Given the description of an element on the screen output the (x, y) to click on. 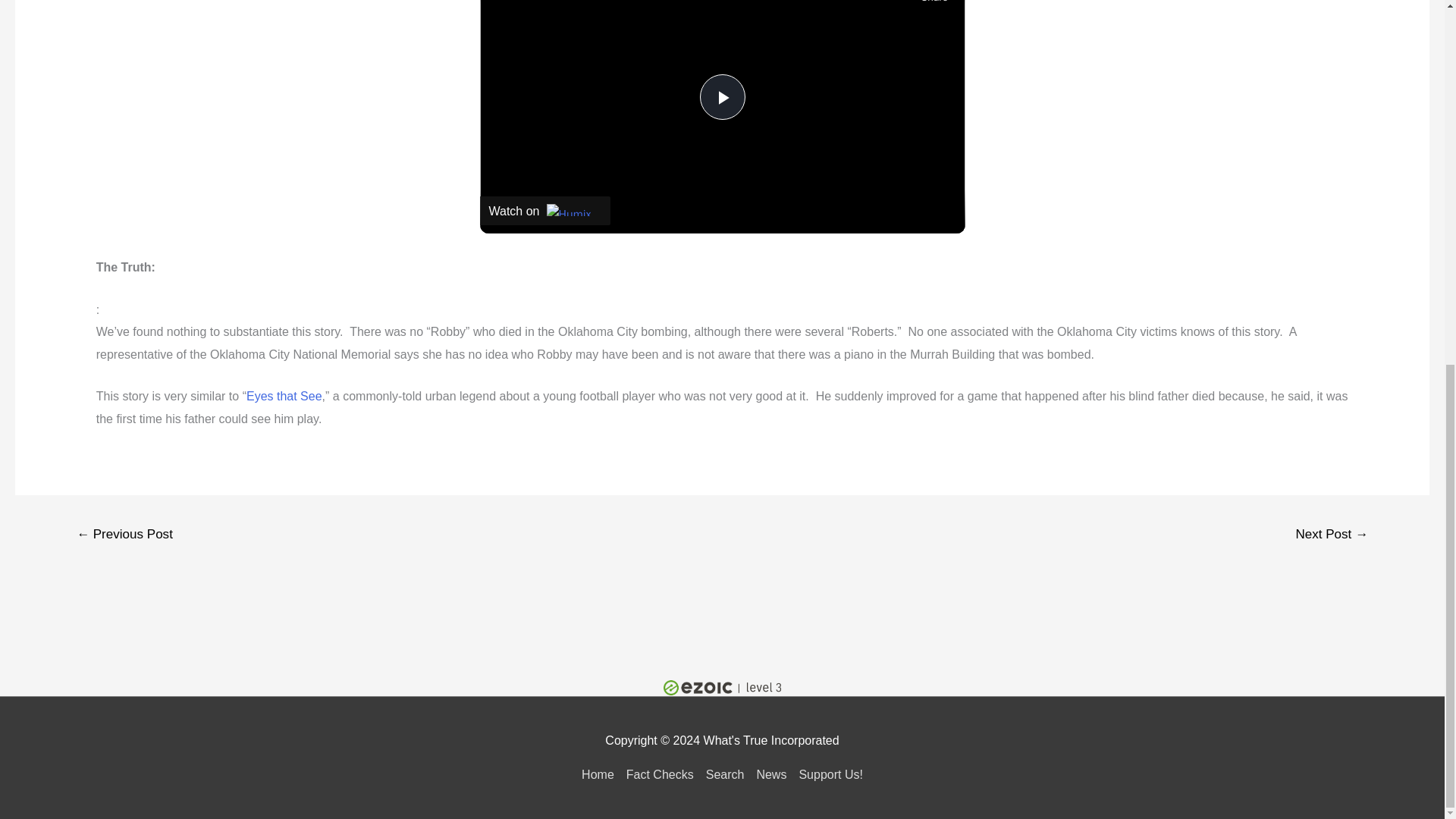
Eyes that See (283, 395)
Home (600, 774)
Fact Checks (660, 774)
Share (933, 3)
Watch on (544, 210)
share (933, 3)
Play Video (721, 96)
Play Video (721, 96)
